Given the description of an element on the screen output the (x, y) to click on. 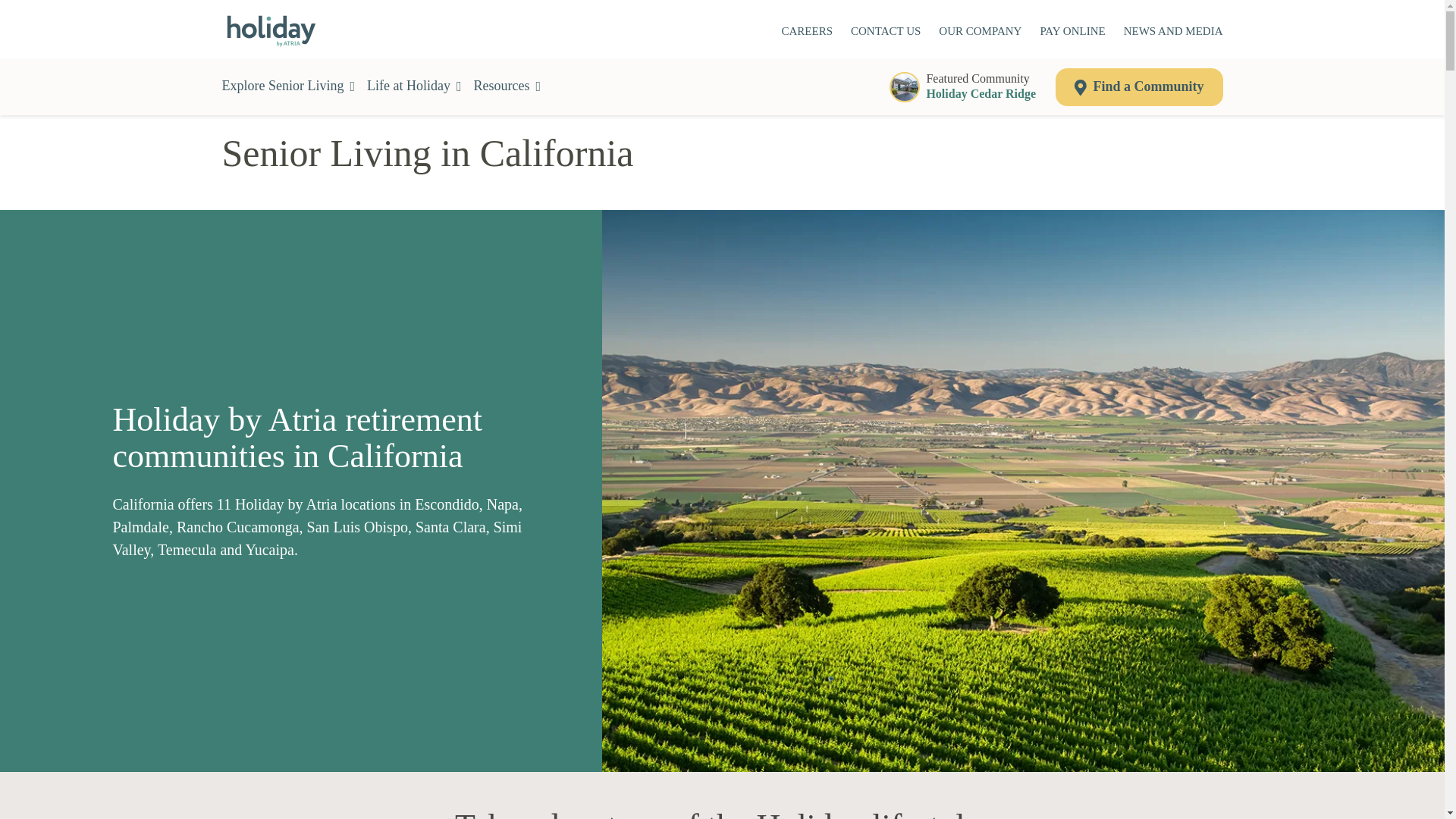
Explore Senior Living (288, 86)
CONTACT US (885, 32)
OUR COMPANY (980, 32)
Life at Holiday (413, 86)
CAREERS (967, 87)
Resources (806, 32)
PAY ONLINE (507, 86)
NEWS AND MEDIA (1072, 32)
Find a Community (1173, 32)
